Given the description of an element on the screen output the (x, y) to click on. 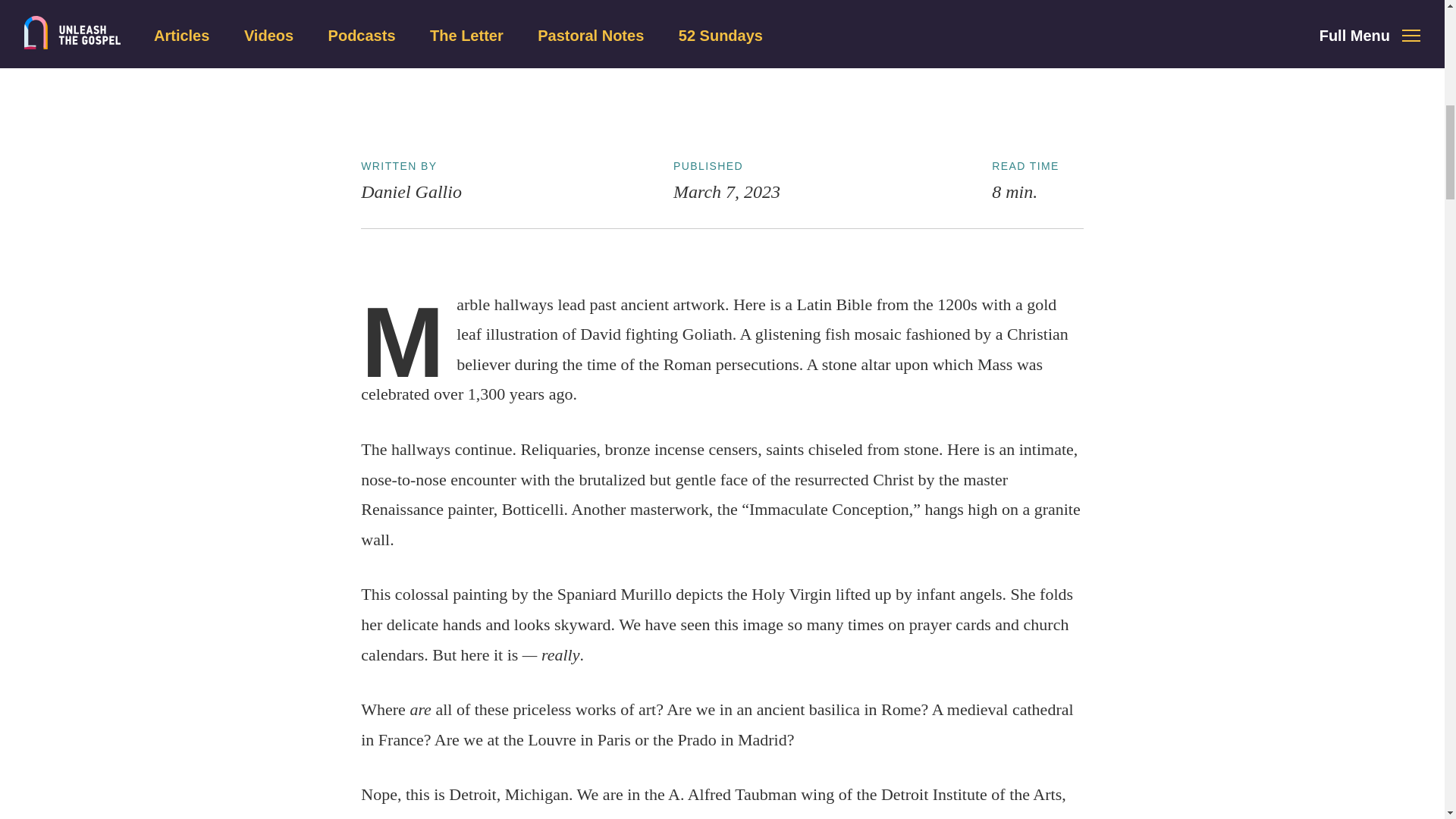
Daniel Gallio (411, 191)
